Given the description of an element on the screen output the (x, y) to click on. 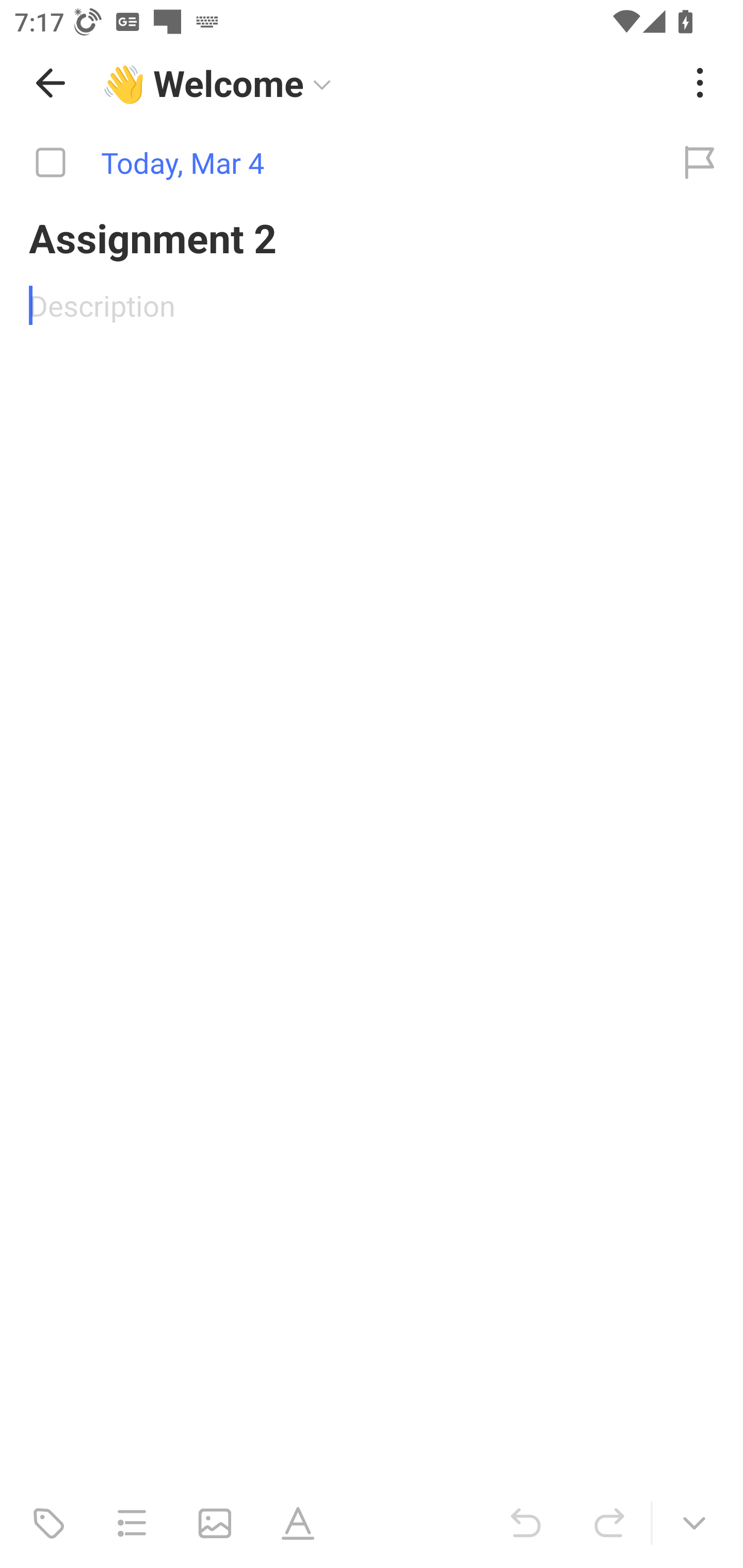
👋 Welcome (384, 82)
Today, Mar 4  (328, 163)
Assignment 2 (371, 237)
Description (371, 304)
